Given the description of an element on the screen output the (x, y) to click on. 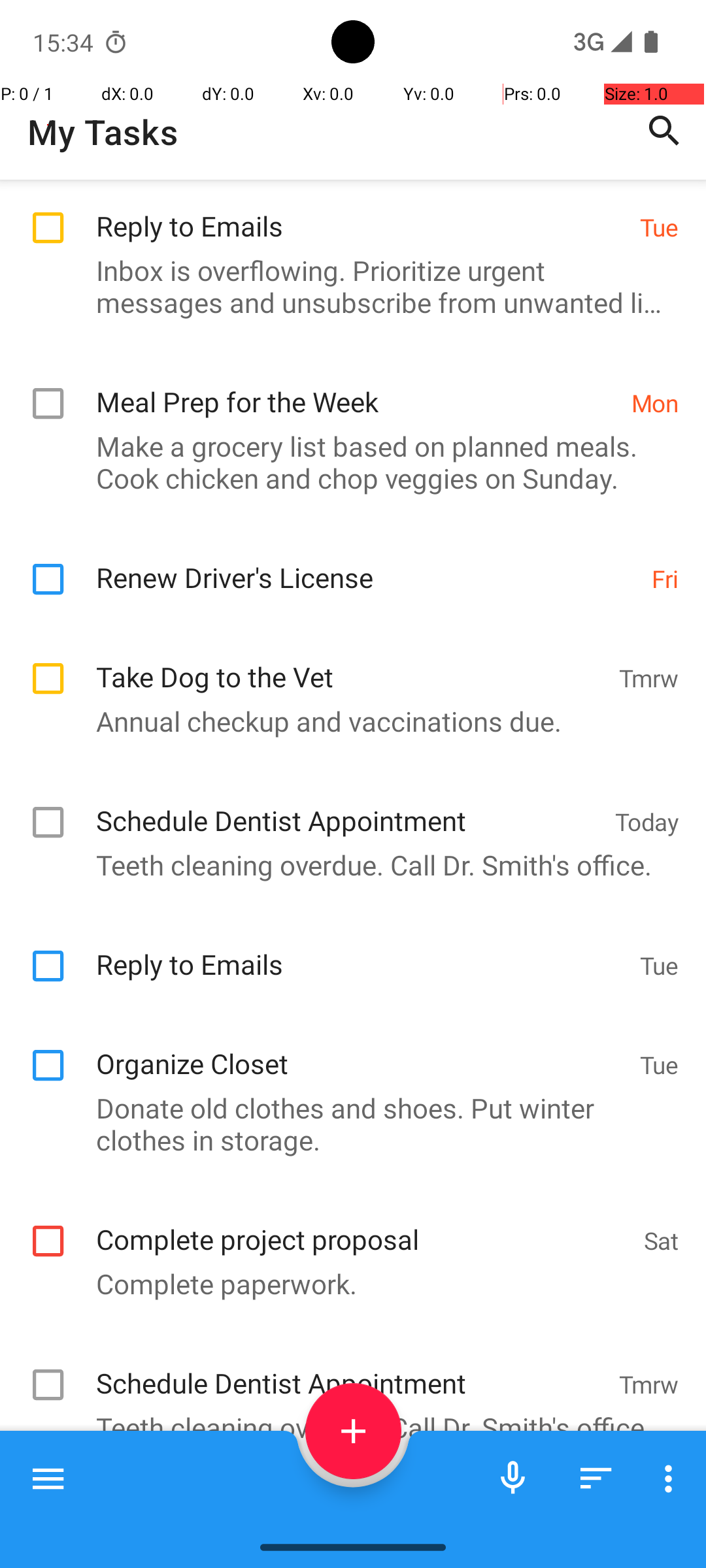
Complete project proposal Element type: android.widget.TextView (363, 1224)
Complete paperwork. Element type: android.widget.TextView (346, 1283)
